Given the description of an element on the screen output the (x, y) to click on. 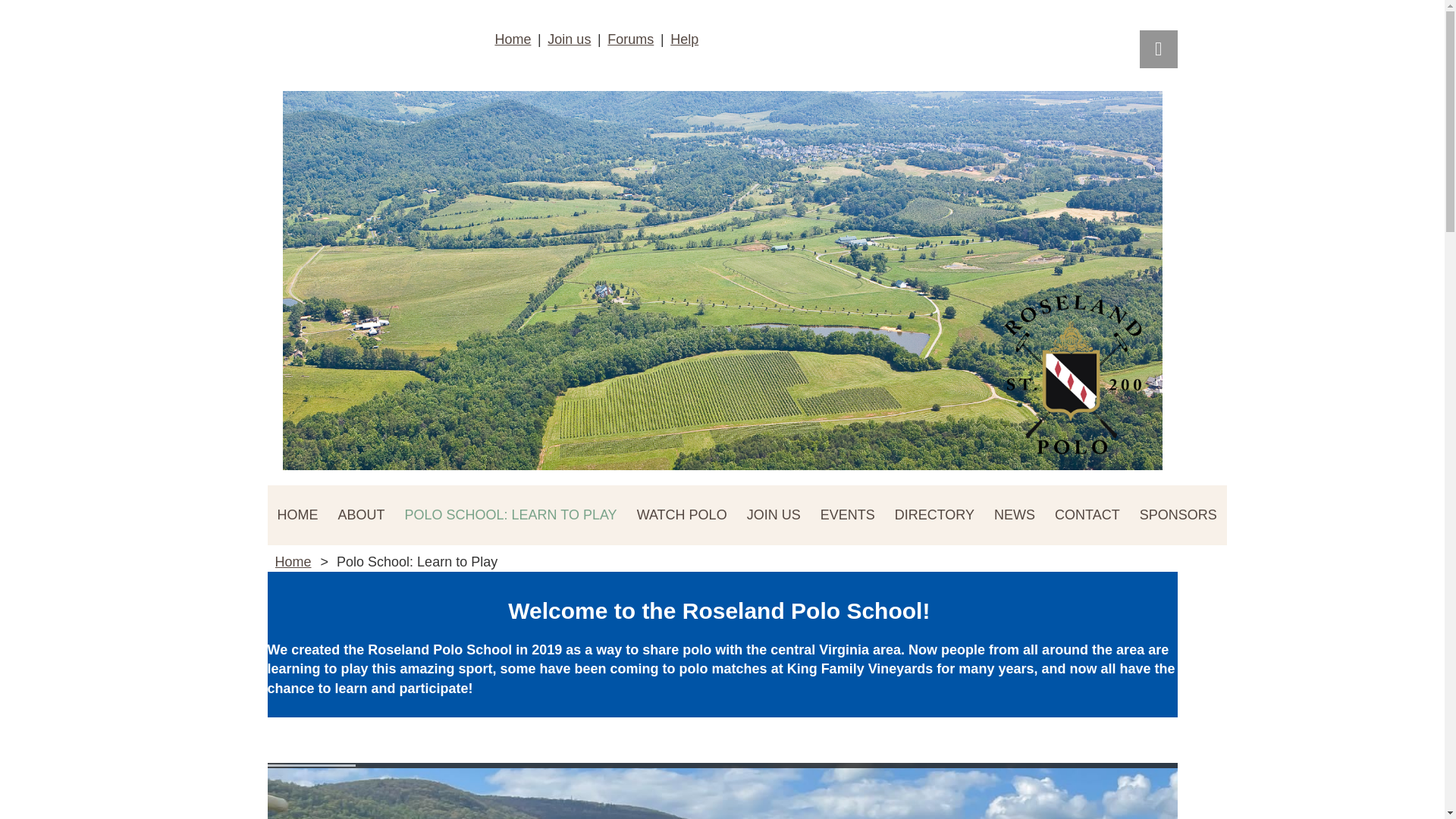
Log in (1157, 48)
Join us (569, 38)
Forums (630, 38)
Home (296, 515)
About (360, 515)
Help (683, 38)
Log in (1157, 48)
Help (683, 38)
DIRECTORY (934, 515)
NEWS (1014, 515)
